Given the description of an element on the screen output the (x, y) to click on. 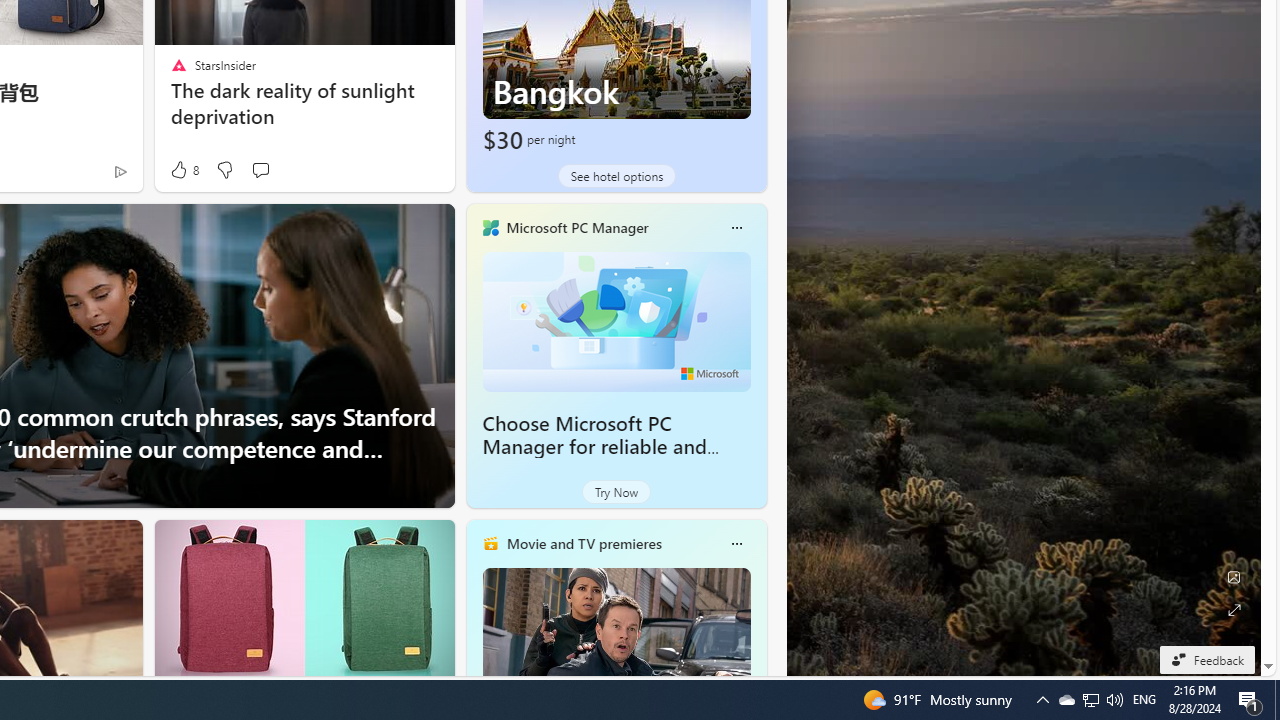
Start the conversation (260, 169)
Class: icon-img (736, 543)
Ad Choice (119, 171)
Edit Background (1233, 577)
Expand background (1233, 610)
Microsoft PC Manager (576, 227)
Movie and TV premieres (583, 543)
See hotel options (615, 175)
Dislike (224, 170)
More options (736, 543)
Feedback (1206, 659)
Start the conversation (260, 170)
